Given the description of an element on the screen output the (x, y) to click on. 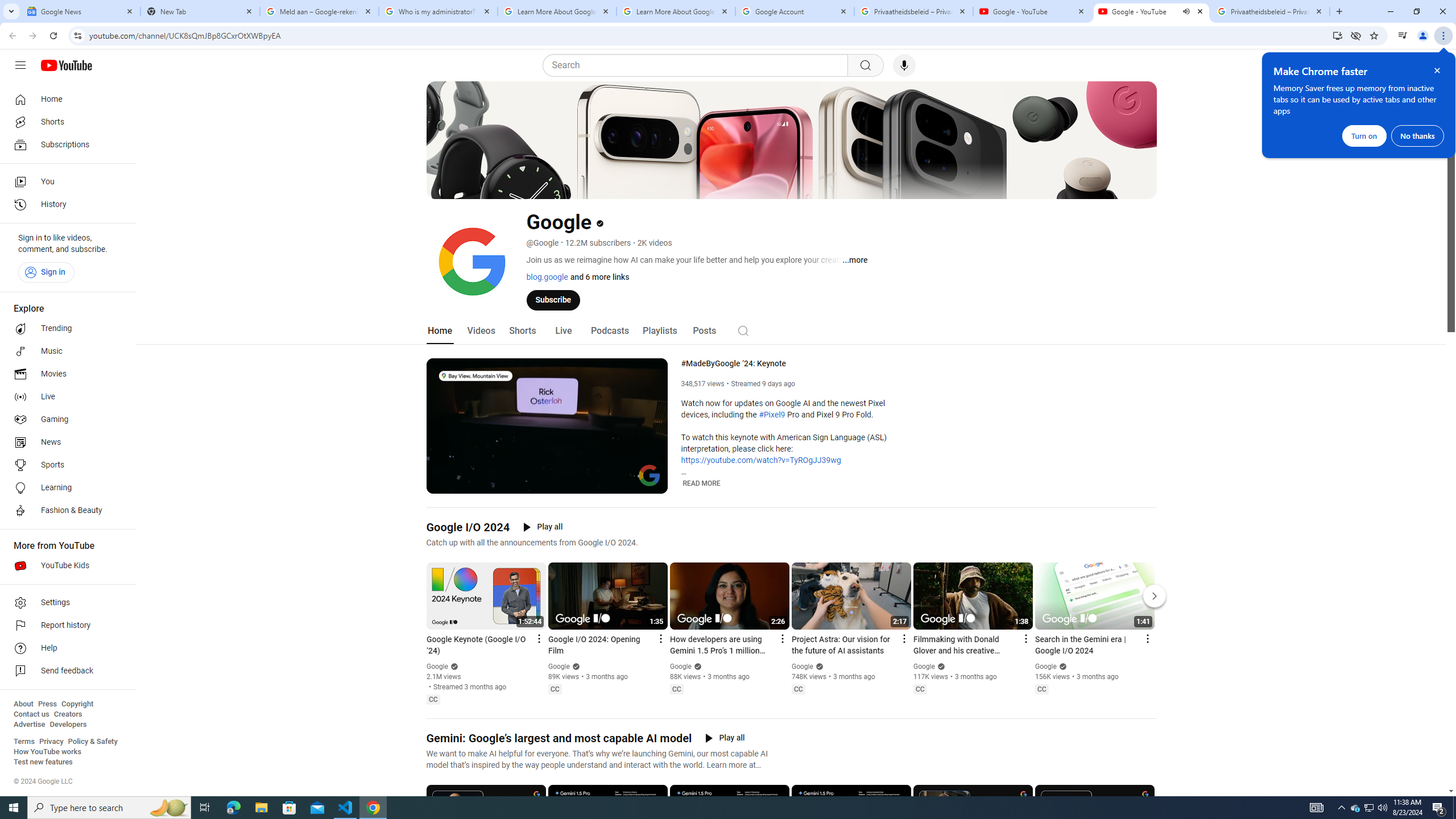
Gaming (64, 419)
News (64, 441)
Verified (1061, 665)
Subscribe (552, 299)
Live (562, 330)
Trending (64, 328)
Pause (k) (443, 483)
Subscriptions (64, 144)
